Given the description of an element on the screen output the (x, y) to click on. 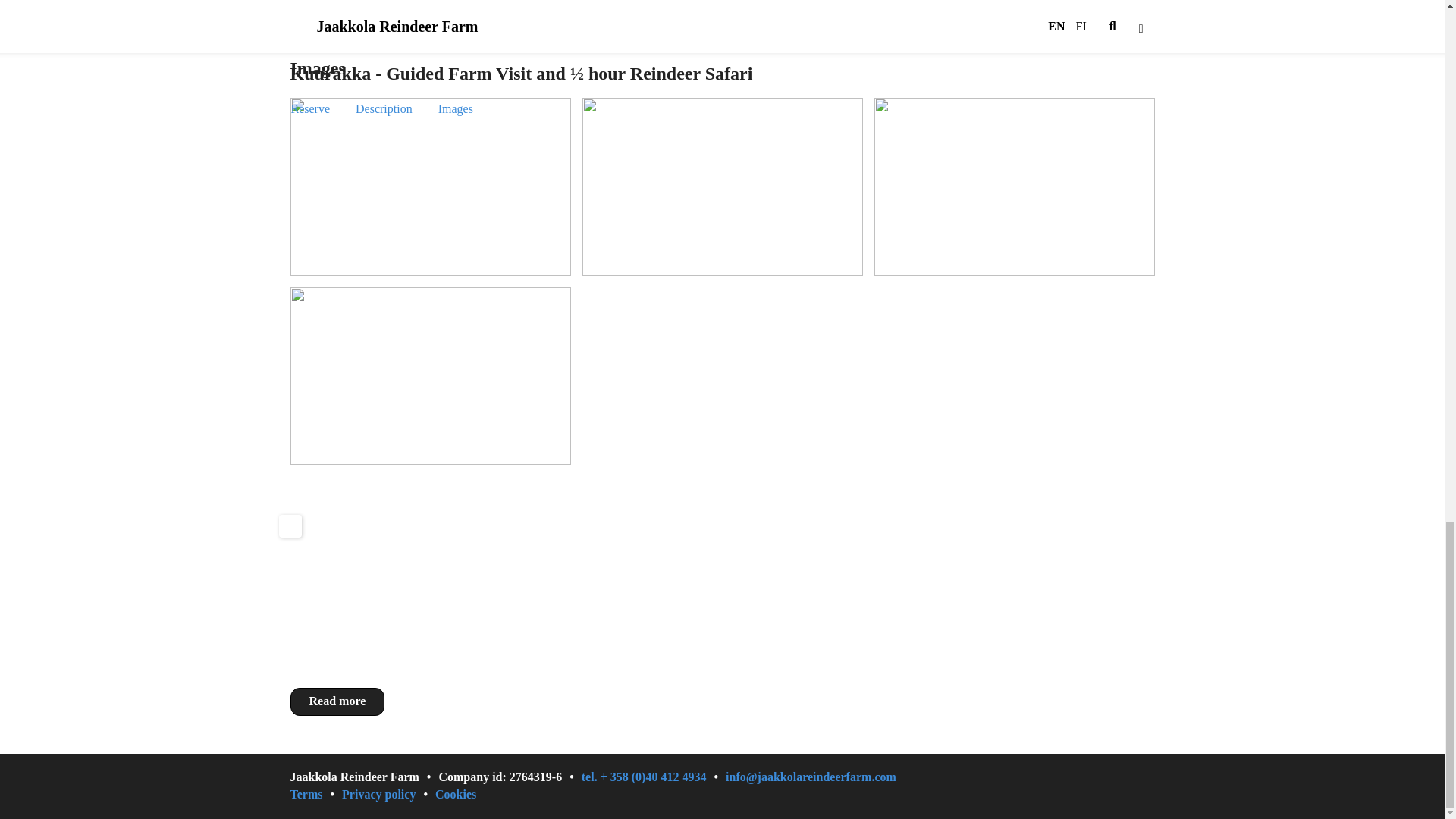
Read more (336, 701)
Privacy policy (388, 794)
Activities (702, 545)
Terms (315, 794)
Cookies (455, 794)
